Given the description of an element on the screen output the (x, y) to click on. 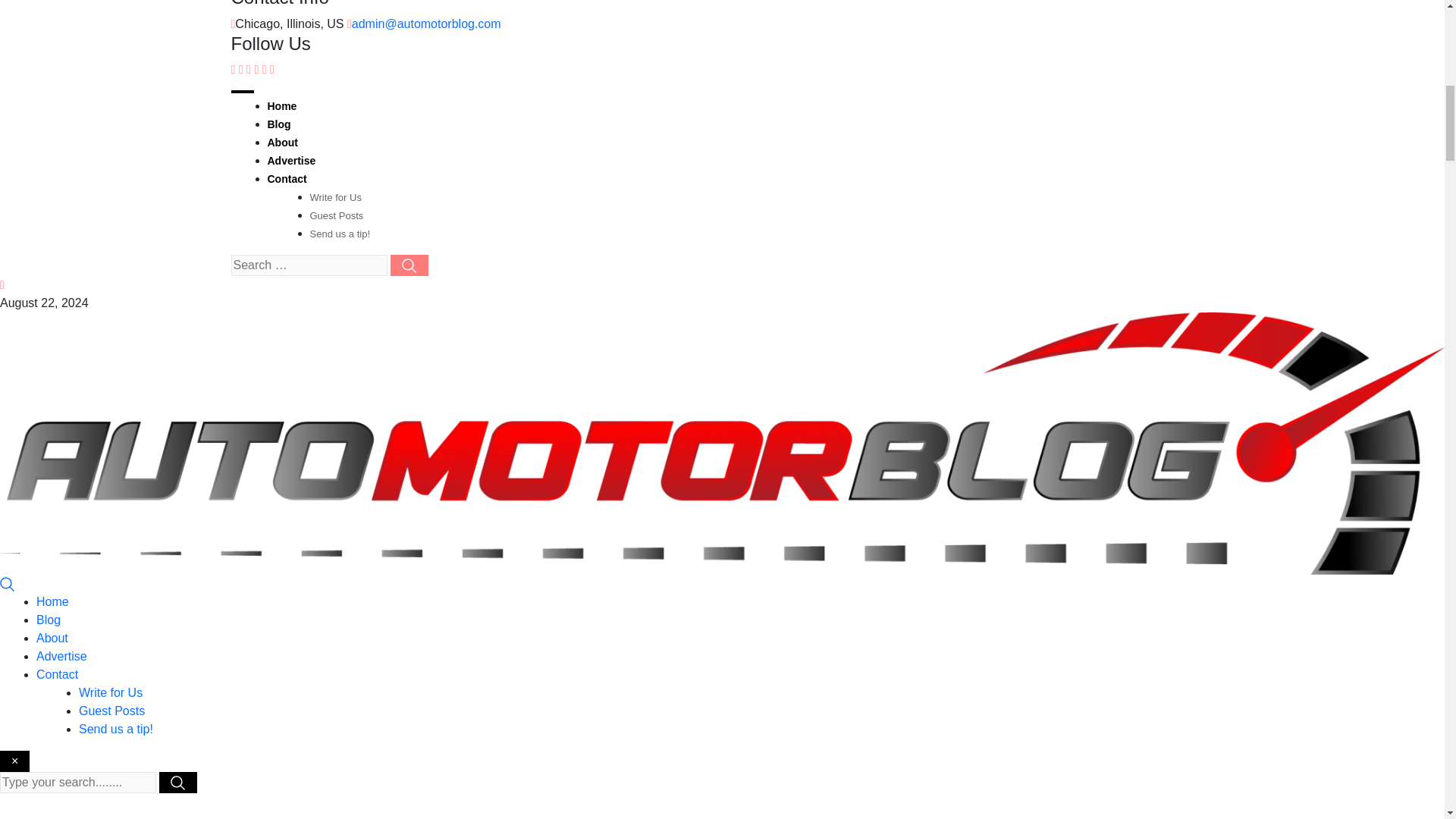
Home (281, 105)
Advertise (290, 160)
Write for Us (334, 197)
Guest Posts (335, 215)
About (52, 637)
About (281, 142)
Blog (277, 123)
Home (52, 601)
Contact (285, 178)
